Given the description of an element on the screen output the (x, y) to click on. 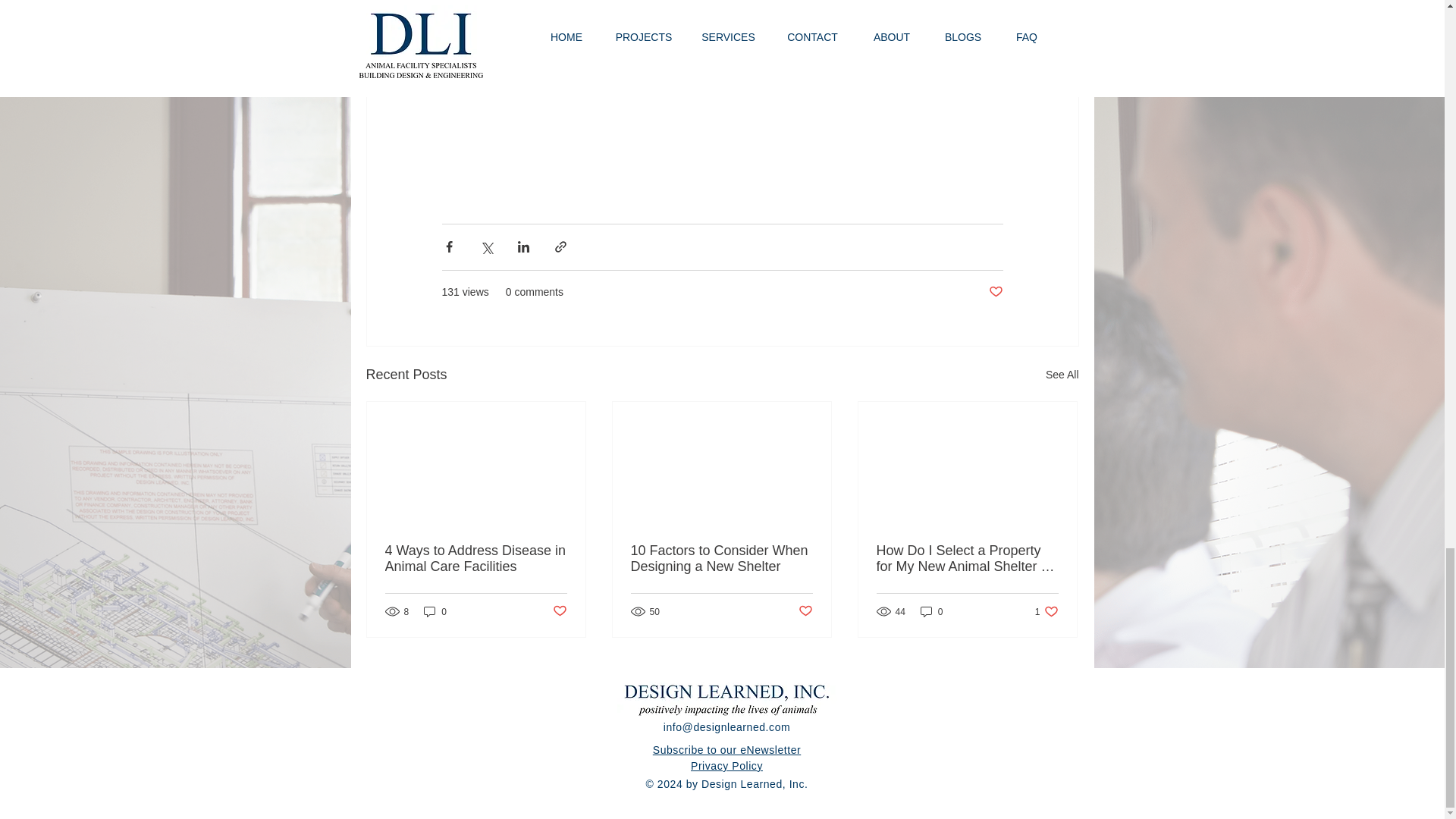
Post not marked as liked (995, 292)
See All (1061, 374)
consultation online (568, 73)
0 (435, 611)
4 Ways to Address Disease in Animal Care Facilities (476, 558)
Post not marked as liked (558, 611)
